Given the description of an element on the screen output the (x, y) to click on. 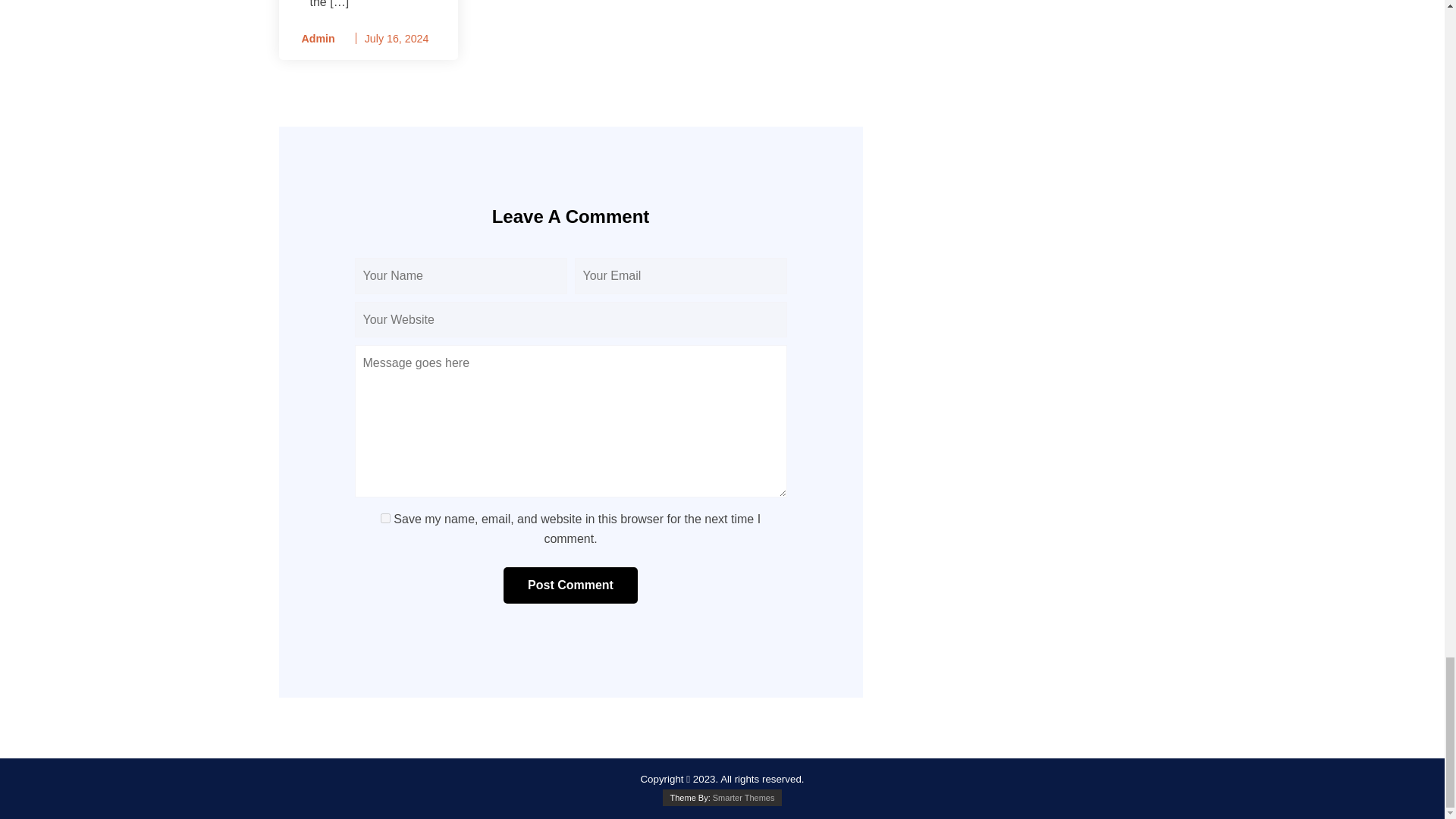
Post Comment (570, 585)
yes (385, 518)
July 16, 2024 (397, 38)
Admin (312, 38)
